Given the description of an element on the screen output the (x, y) to click on. 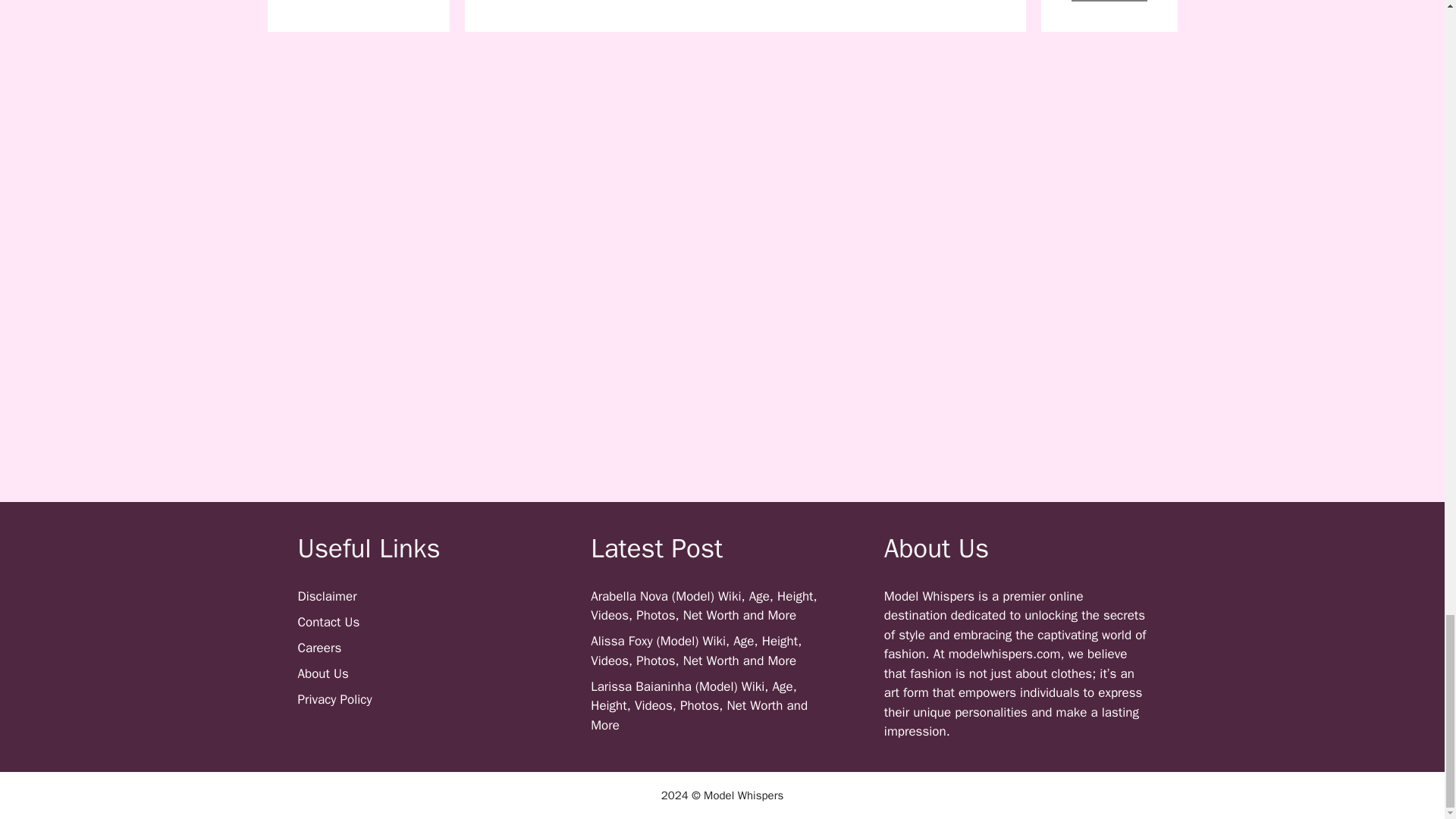
Careers (318, 647)
About Us (322, 673)
Contact Us (328, 621)
Privacy Policy (334, 699)
Disclaimer (326, 596)
